Given the description of an element on the screen output the (x, y) to click on. 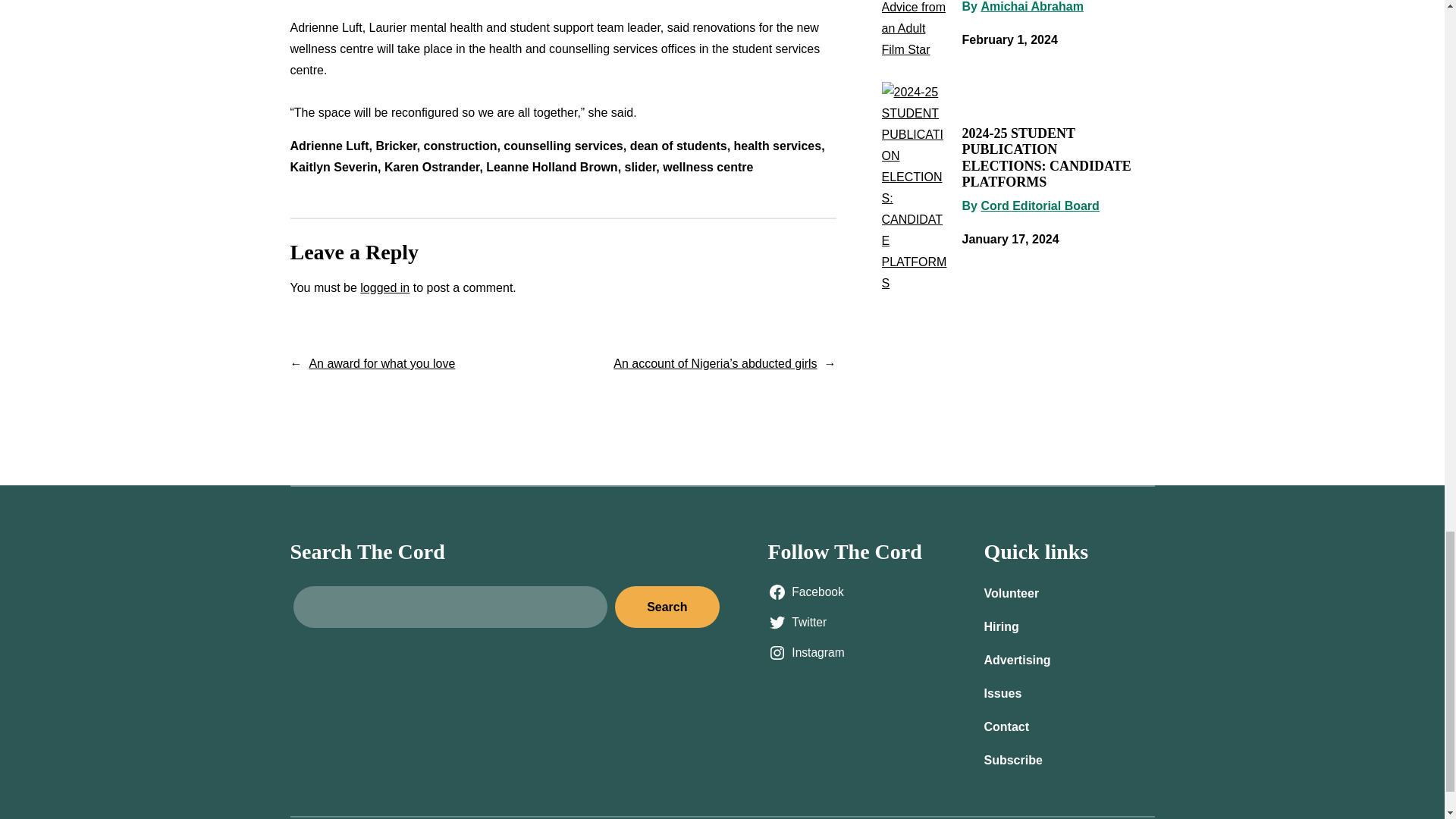
construction (460, 145)
Kaitlyn Severin (333, 166)
Adrienne Luft (328, 145)
Posts by Cord Editorial Board (1039, 205)
counselling services (563, 145)
health services (777, 145)
Bricker (395, 145)
dean of students (678, 145)
Posts by Amichai Abraham (1031, 6)
